Given the description of an element on the screen output the (x, y) to click on. 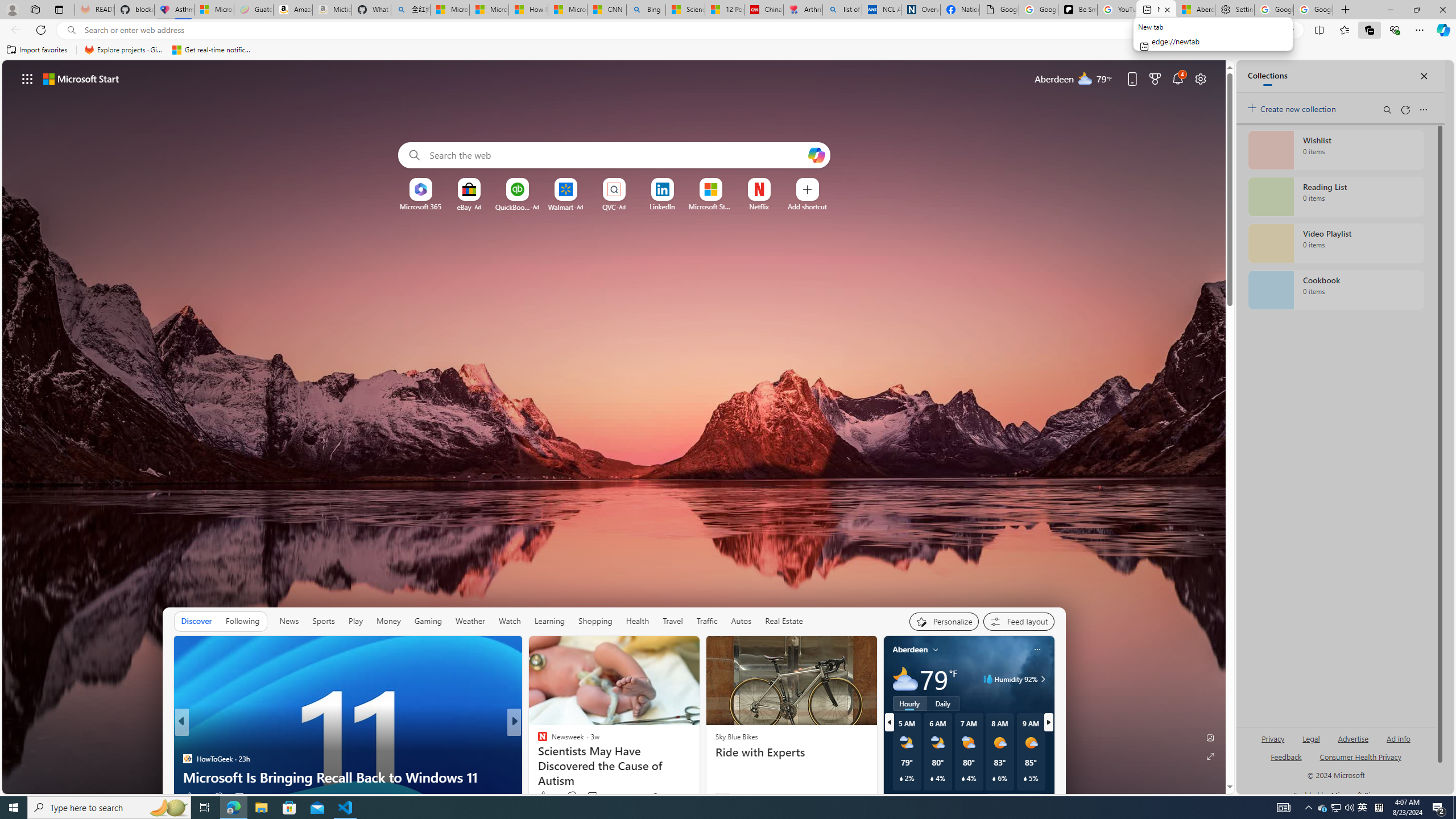
View comments 10 Comment (592, 797)
